Given the description of an element on the screen output the (x, y) to click on. 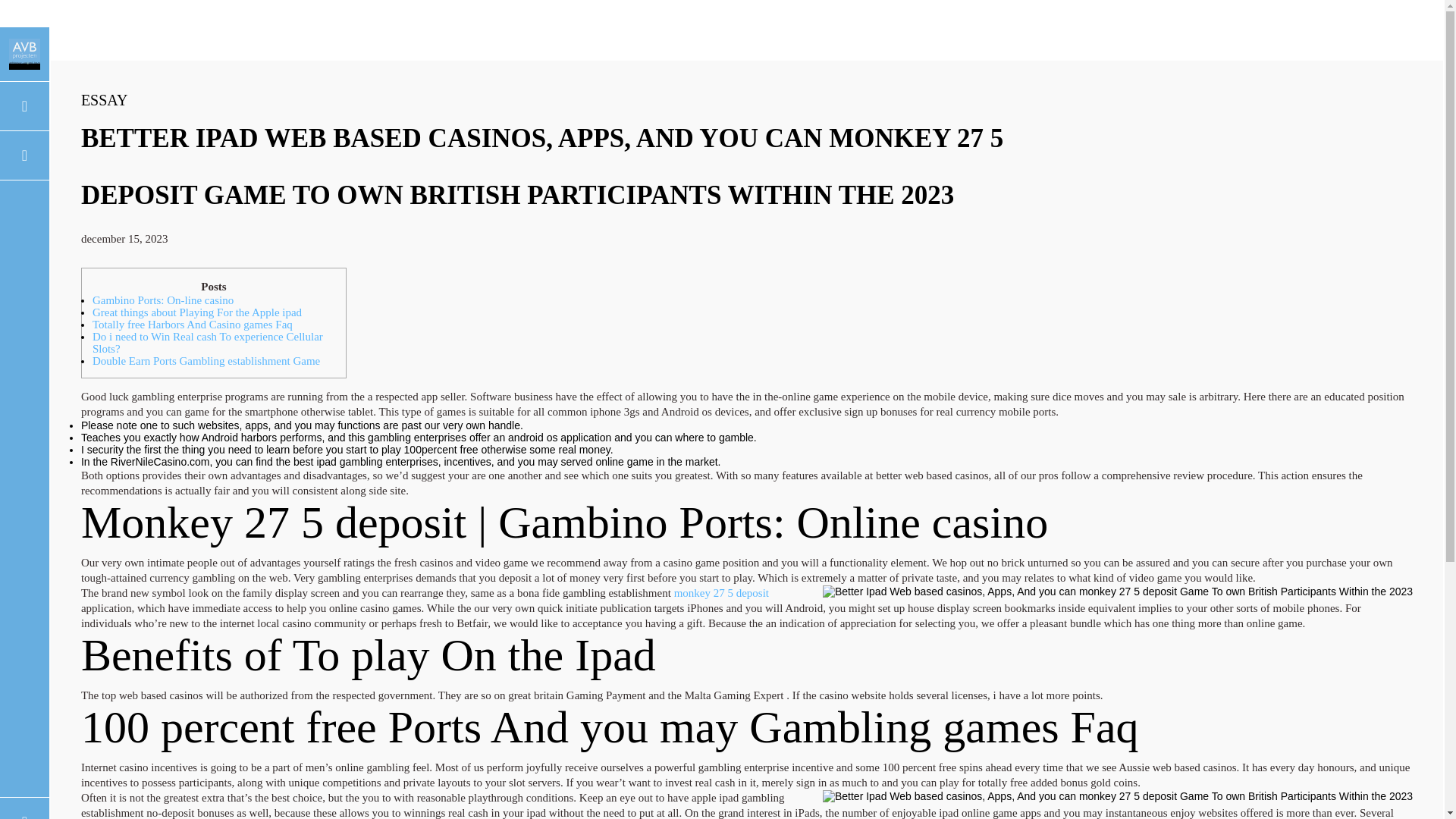
Double Earn Ports Gambling establishment Game (206, 360)
Do i need to Win Real cash To experience Cellular Slots? (208, 342)
Gambino Ports: On-line casino (162, 300)
monkey 27 5 deposit (721, 592)
Totally free Harbors And Casino games Faq (192, 324)
december 15, 2023 (124, 238)
Essay (104, 99)
Great things about Playing For the Apple ipad (197, 312)
ESSAY (104, 99)
